Given the description of an element on the screen output the (x, y) to click on. 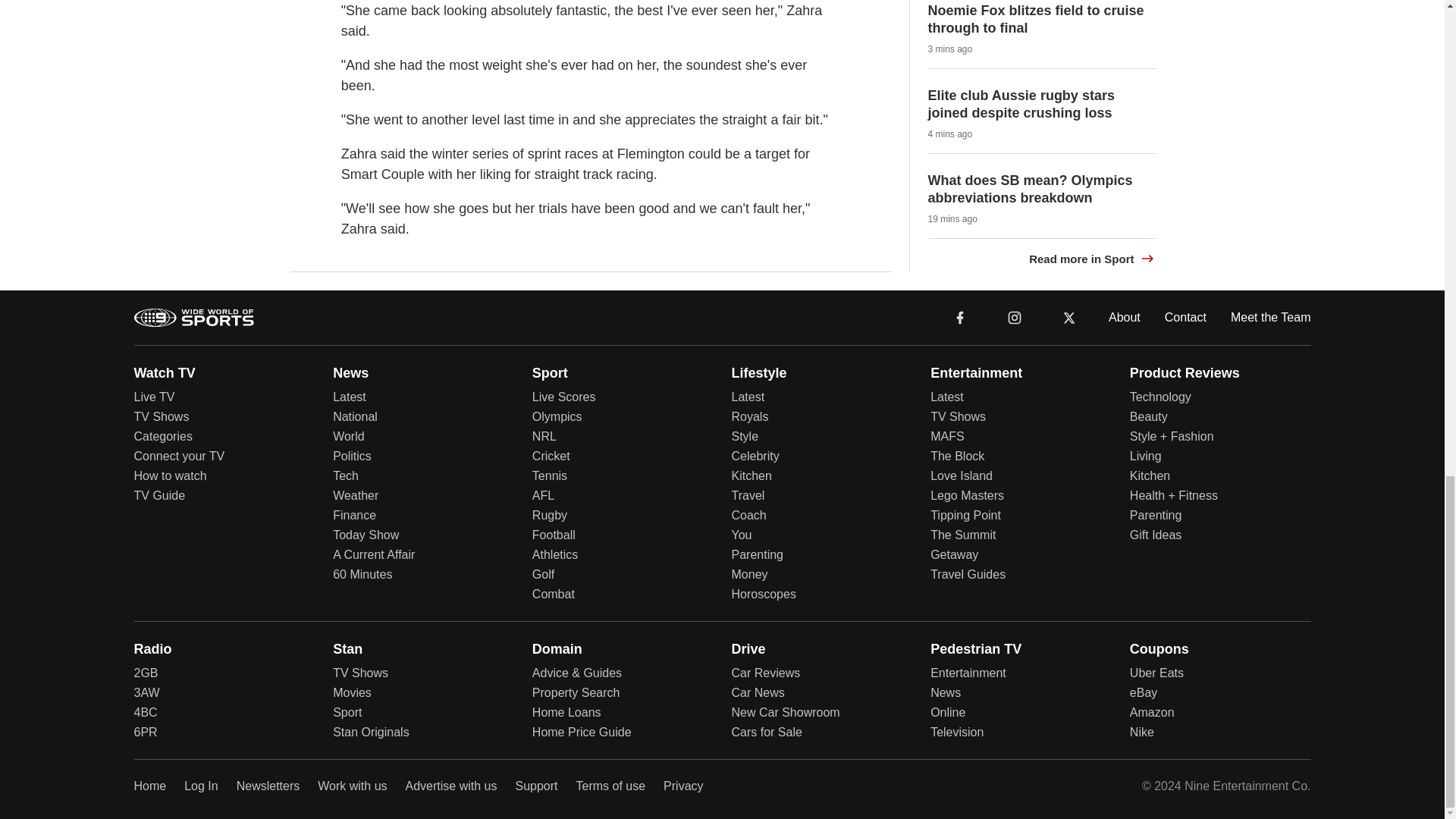
facebook (959, 316)
Live TV (153, 396)
x (1069, 317)
x (1069, 316)
x (1069, 316)
Meet the Team (1270, 317)
Watch TV (164, 372)
instagram (1013, 316)
instagram (1014, 317)
Connect your TV (178, 455)
Categories (162, 436)
About (1124, 317)
Contact (1185, 317)
facebook (959, 316)
facebook (960, 317)
